Given the description of an element on the screen output the (x, y) to click on. 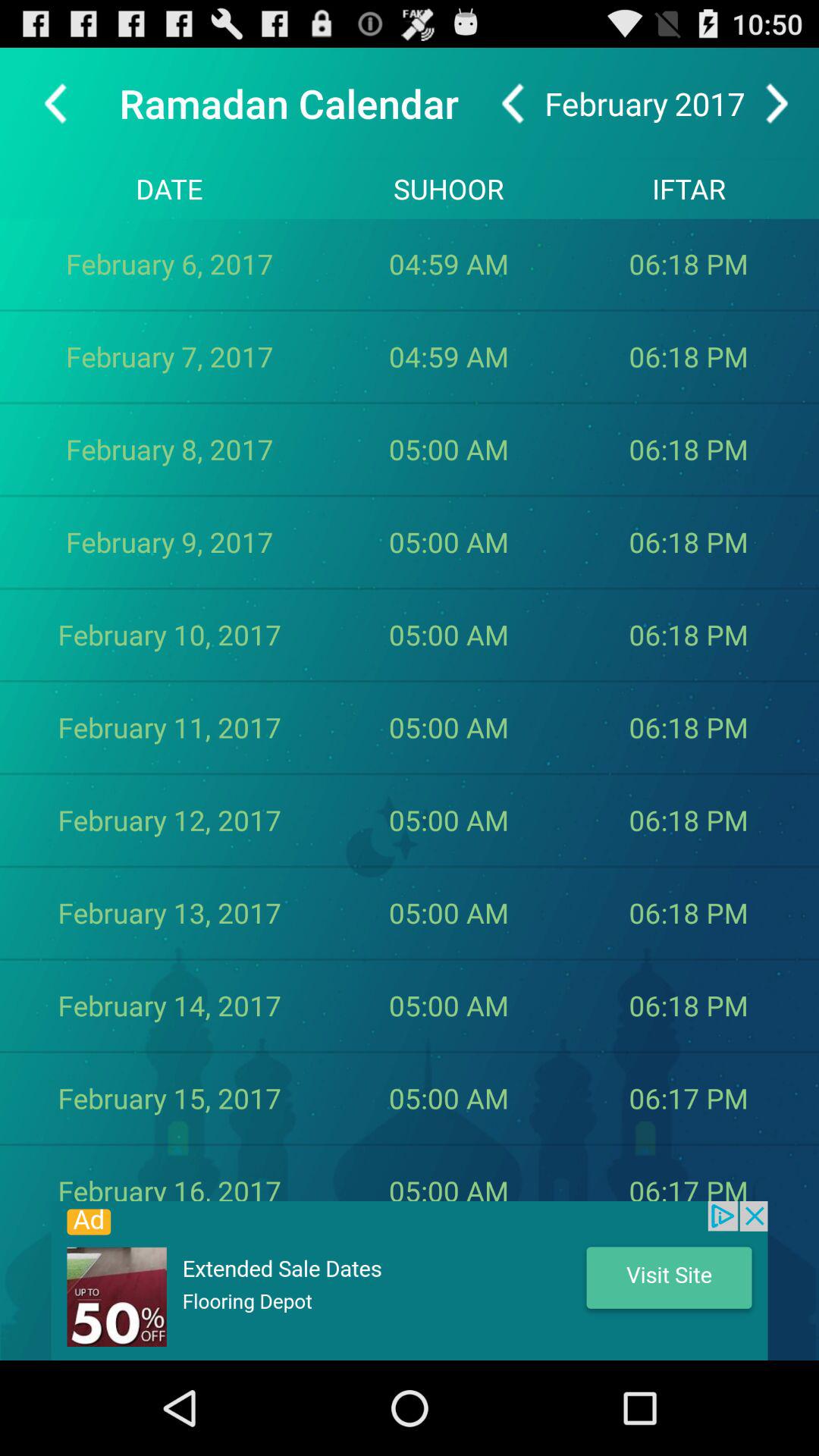
visit advertiser site (409, 1280)
